Given the description of an element on the screen output the (x, y) to click on. 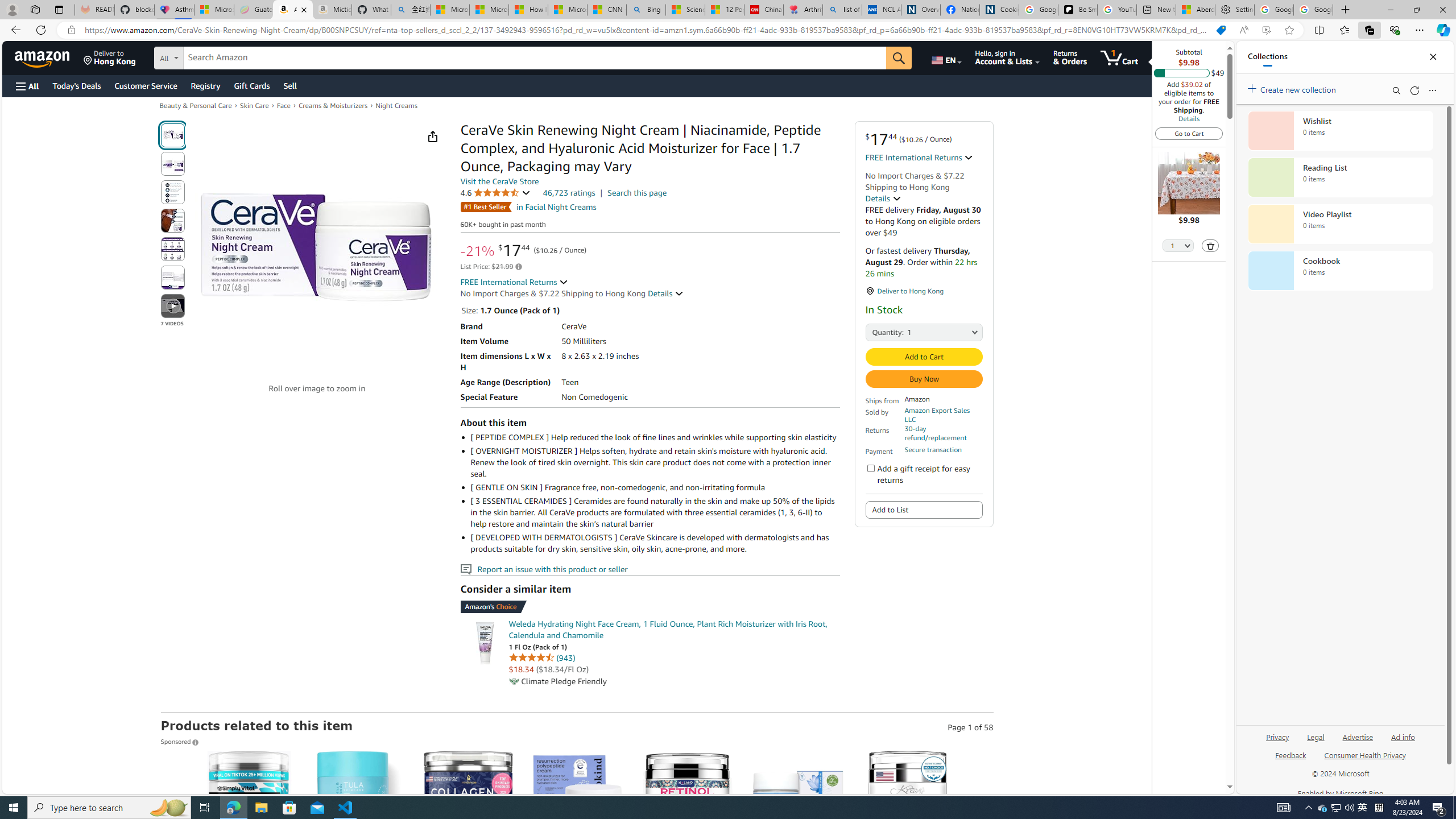
Skin Care (253, 105)
943 ratings (565, 657)
Customer Service (145, 85)
4.6 4.6 out of 5 stars (494, 192)
Quantity: (877, 331)
Privacy (1278, 736)
Delete (1210, 245)
Sponsored  (179, 741)
Create new collection (1293, 87)
Quantity Selector (1177, 246)
